Given the description of an element on the screen output the (x, y) to click on. 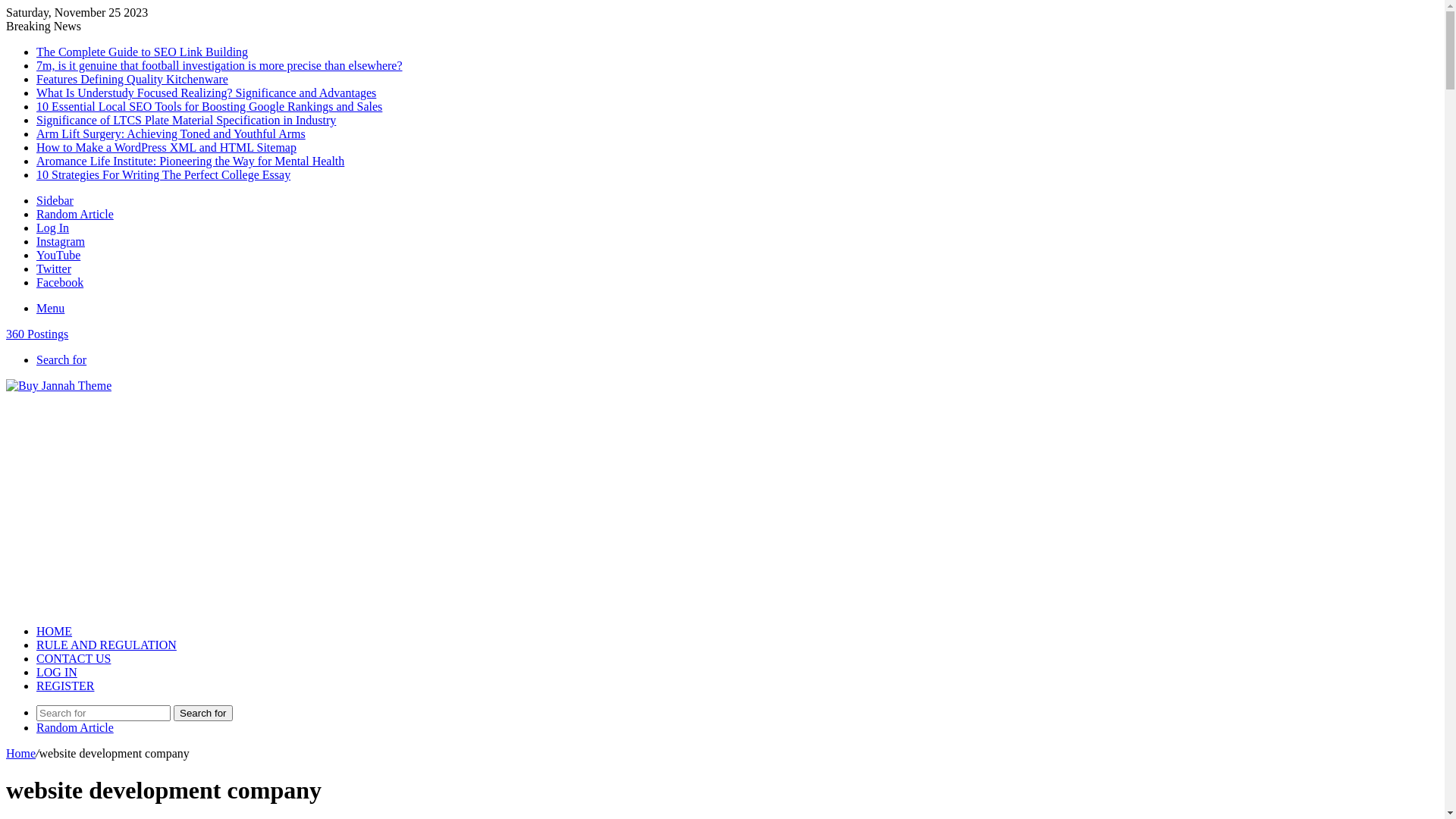
Random Article Element type: text (74, 213)
The Complete Guide to SEO Link Building Element type: text (141, 51)
Arm Lift Surgery: Achieving Toned and Youthful Arms Element type: text (170, 133)
YouTube Element type: text (58, 254)
Random Article Element type: text (74, 727)
360 Postings Element type: text (722, 334)
Menu Element type: text (50, 307)
LOG IN Element type: text (56, 671)
Advertisement Element type: hover (721, 506)
Facebook Element type: text (59, 282)
Log In Element type: text (52, 227)
Buy Jannah Theme Element type: hover (58, 385)
Home Element type: text (20, 752)
Sidebar Element type: text (54, 200)
Instagram Element type: text (60, 241)
Search for Element type: hover (103, 713)
Search for Element type: text (61, 359)
Twitter Element type: text (53, 268)
HOME Element type: text (54, 630)
Search for Element type: text (202, 713)
Features Defining Quality Kitchenware Element type: text (132, 78)
10 Strategies For Writing The Perfect College Essay Element type: text (163, 174)
CONTACT US Element type: text (73, 658)
REGISTER Element type: text (65, 685)
How to Make a WordPress XML and HTML Sitemap Element type: text (166, 147)
RULE AND REGULATION Element type: text (106, 644)
